Given the description of an element on the screen output the (x, y) to click on. 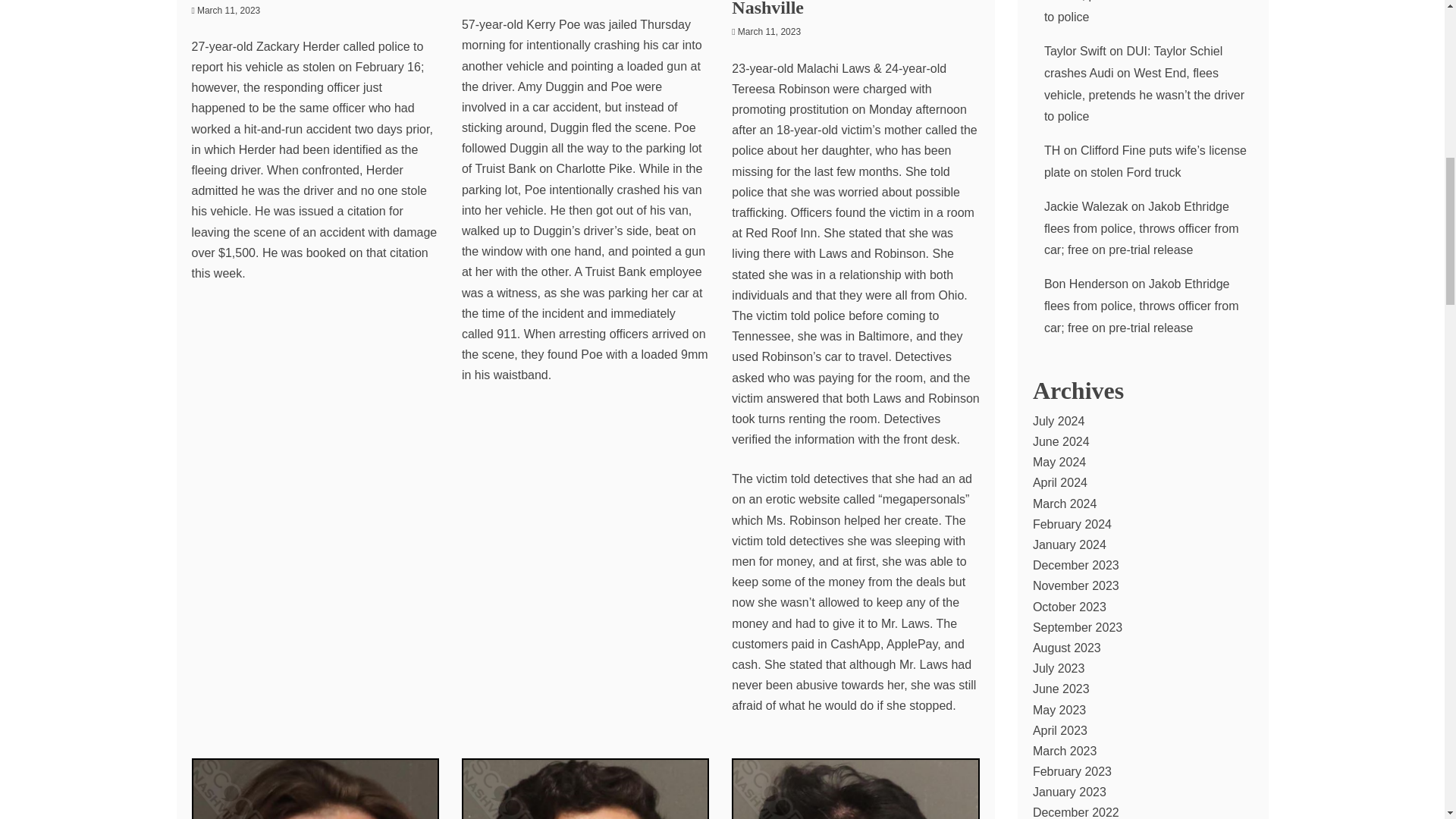
March 11, 2023 (228, 9)
March 11, 2023 (769, 31)
